Given the description of an element on the screen output the (x, y) to click on. 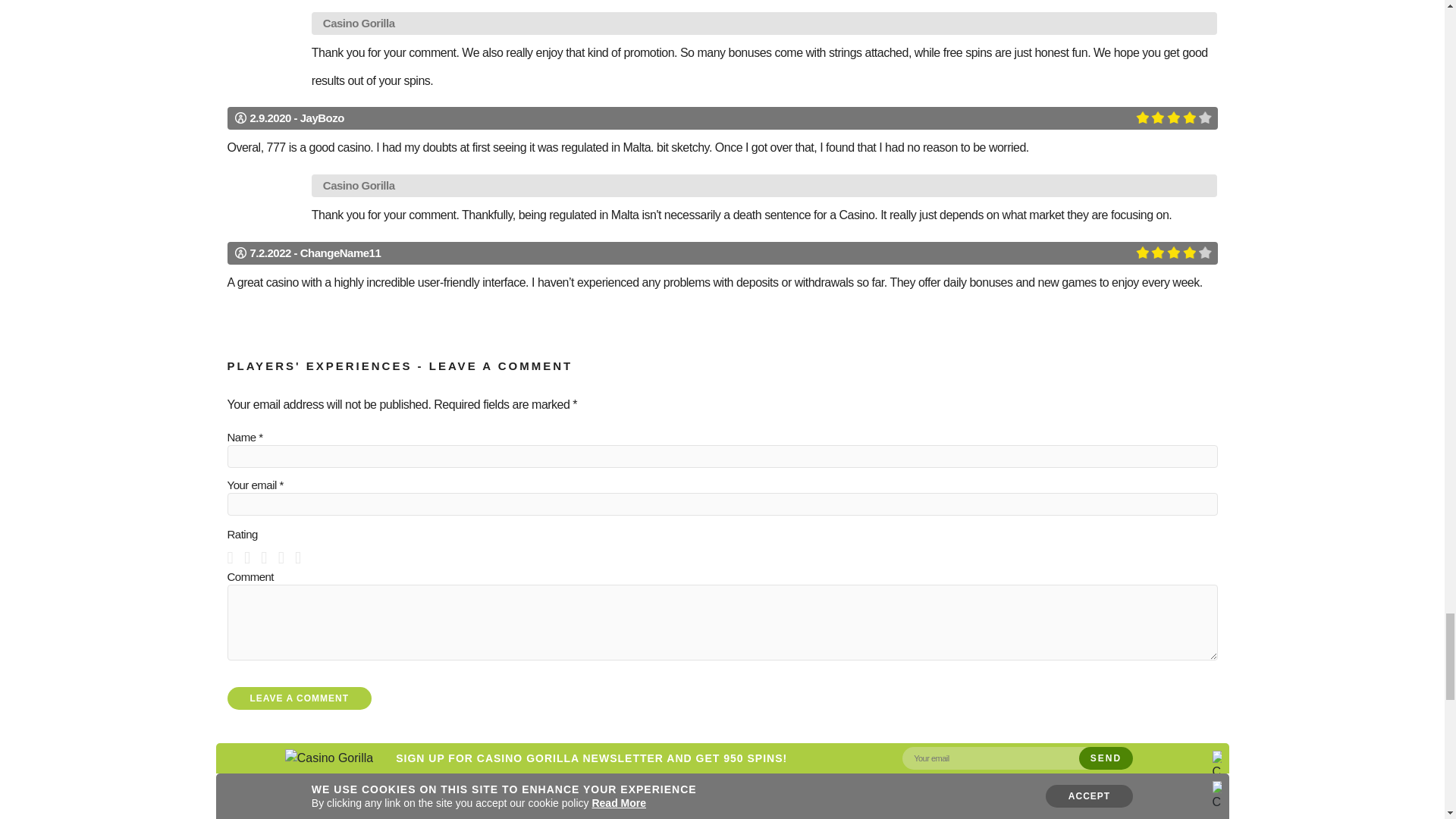
Leave a comment (299, 698)
